Given the description of an element on the screen output the (x, y) to click on. 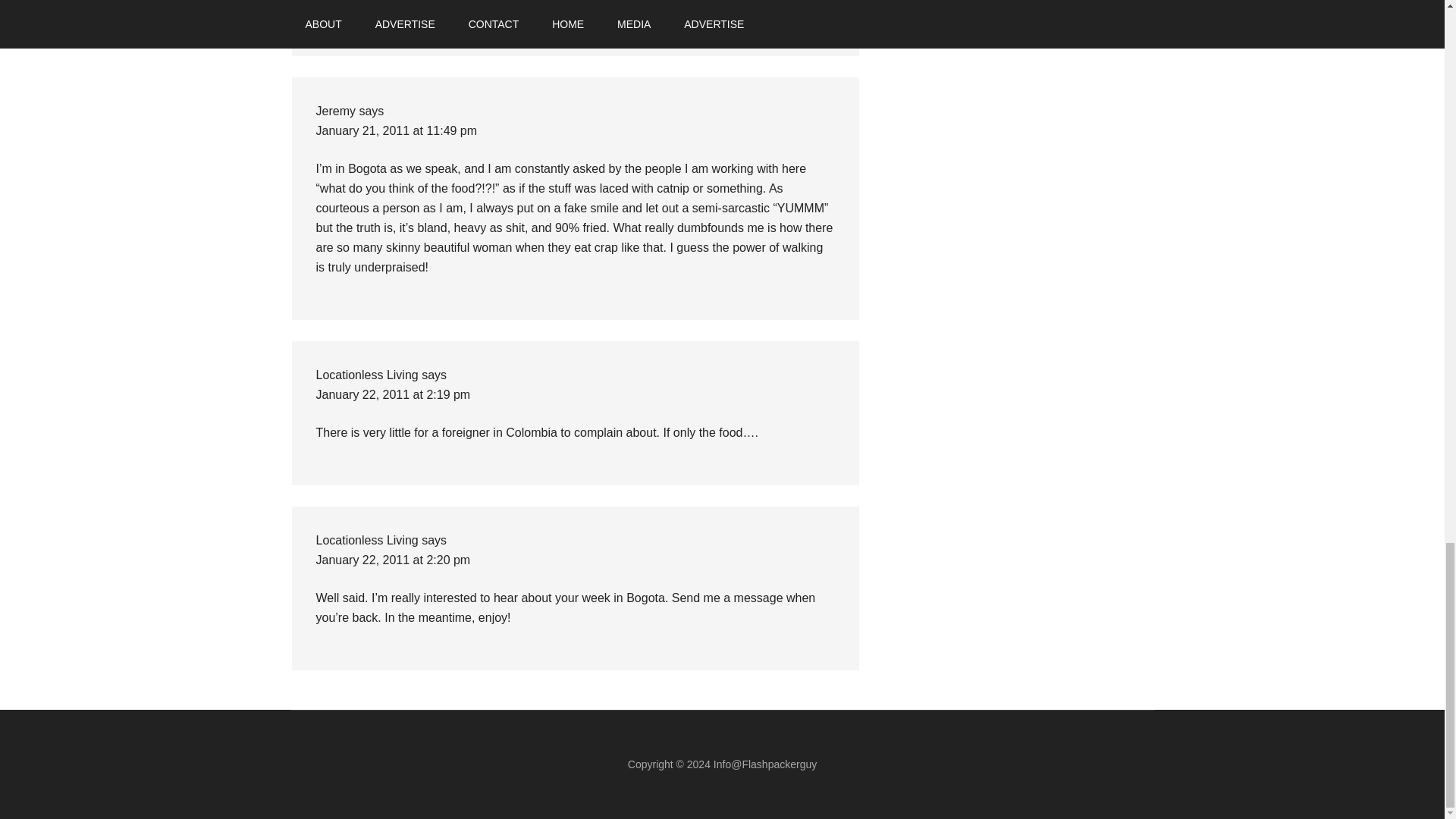
January 22, 2011 at 2:19 pm (392, 394)
January 21, 2011 at 11:49 pm (396, 130)
Locationless Living (366, 540)
Locationless Living (366, 374)
January 22, 2011 at 2:20 pm (392, 559)
